Given the description of an element on the screen output the (x, y) to click on. 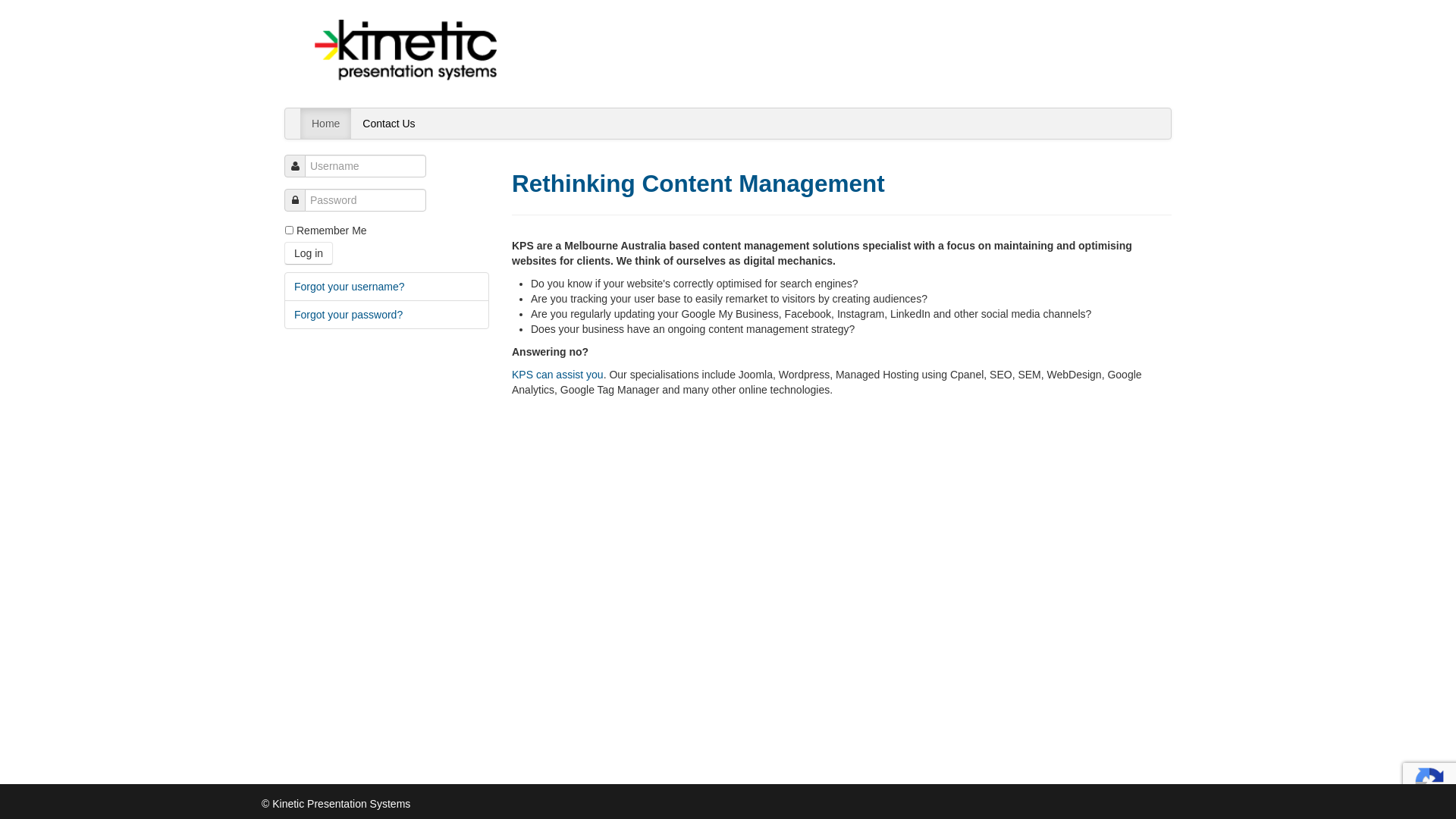
Forgot your password? Element type: text (386, 314)
Log in Element type: text (308, 252)
Forgot your username? Element type: text (386, 286)
Home Element type: text (325, 123)
KPS can assist you Element type: text (557, 374)
Contact Us Element type: text (388, 123)
Rethinking Content Management Element type: text (697, 183)
